Given the description of an element on the screen output the (x, y) to click on. 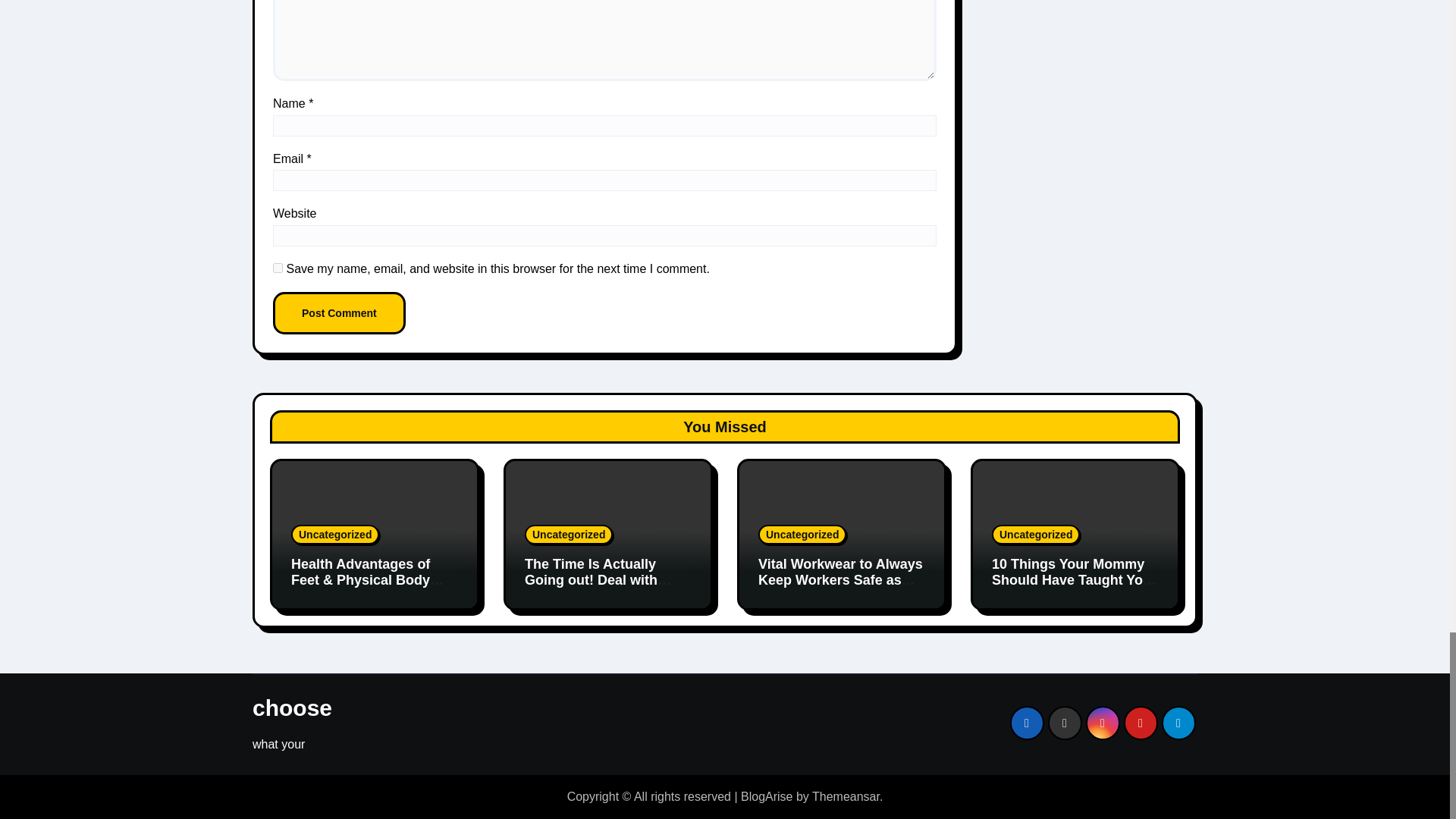
Post Comment (339, 312)
yes (277, 267)
